Given the description of an element on the screen output the (x, y) to click on. 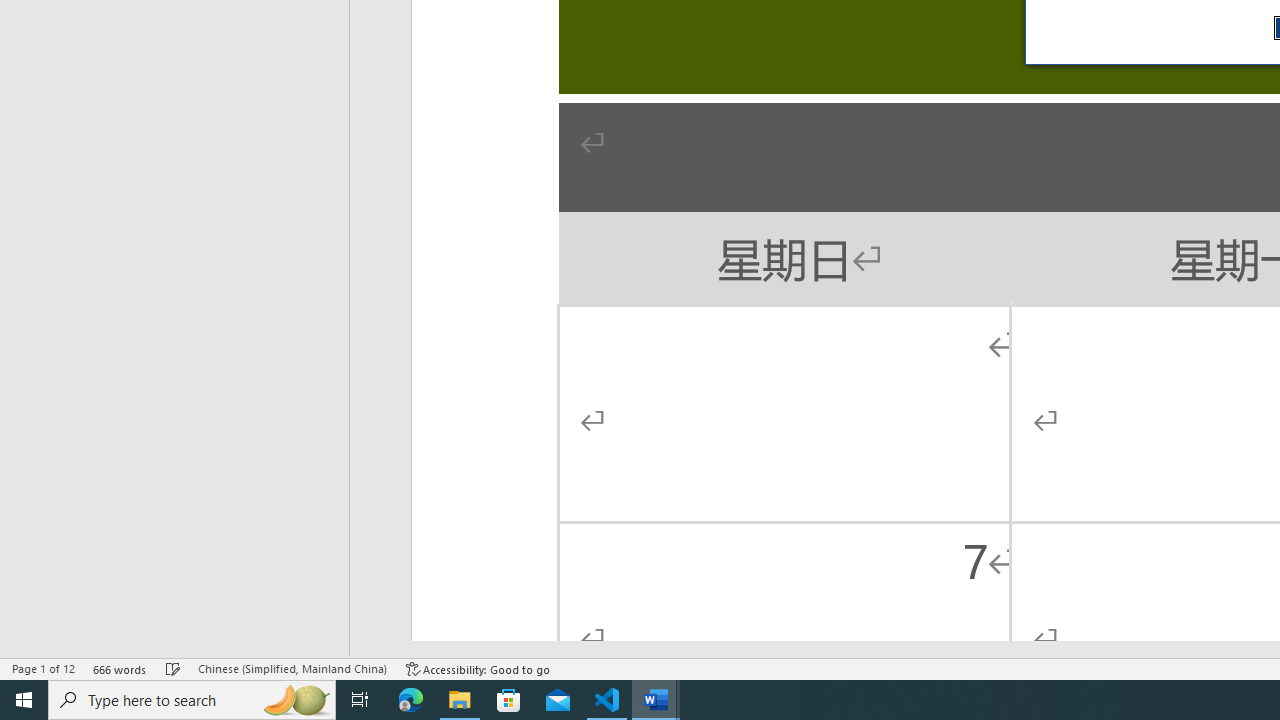
Start (24, 699)
